Given the description of an element on the screen output the (x, y) to click on. 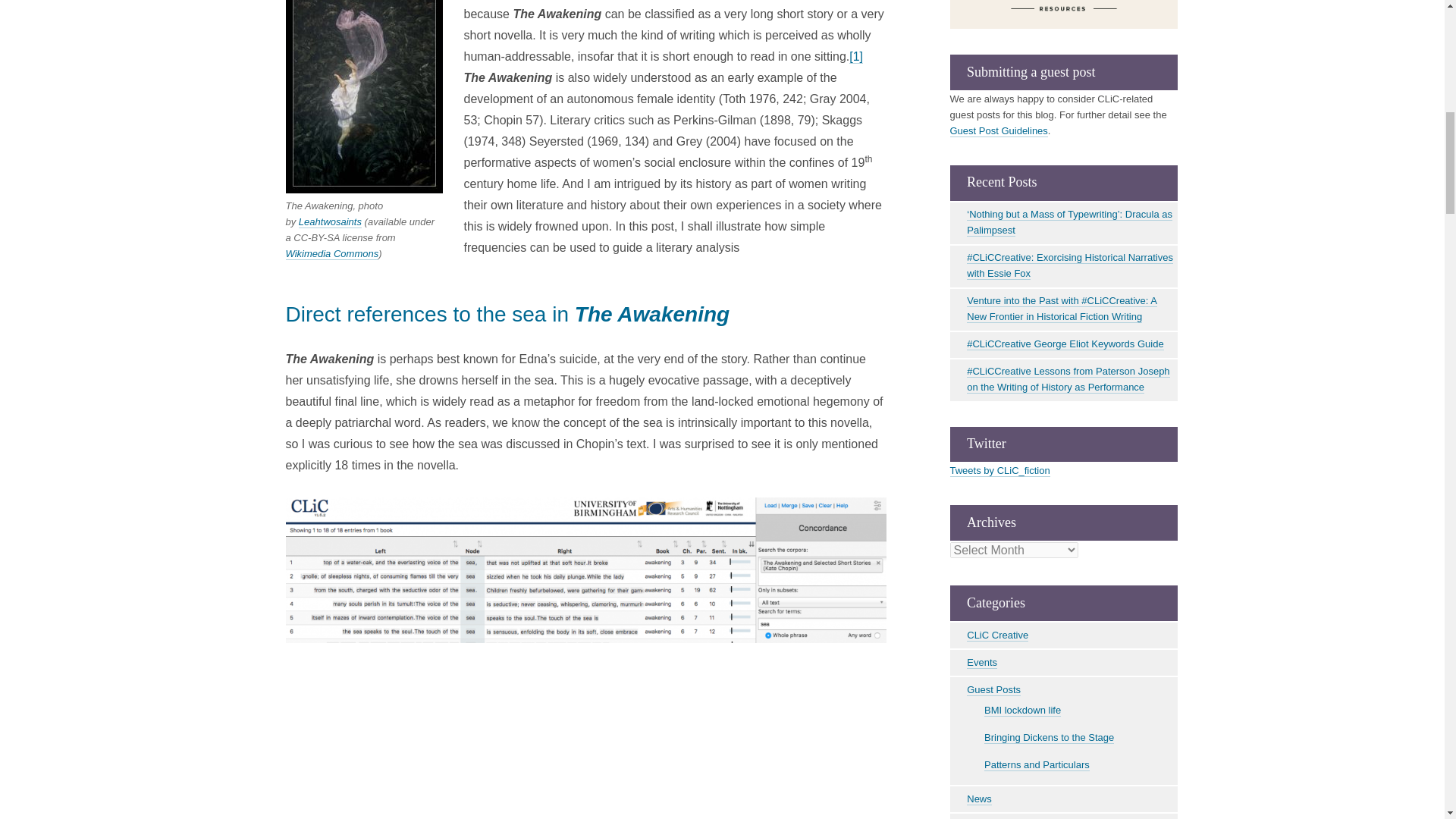
Leahtwosaints (329, 222)
User:Leahtwosaints (329, 222)
Wikimedia Commons (331, 254)
